Given the description of an element on the screen output the (x, y) to click on. 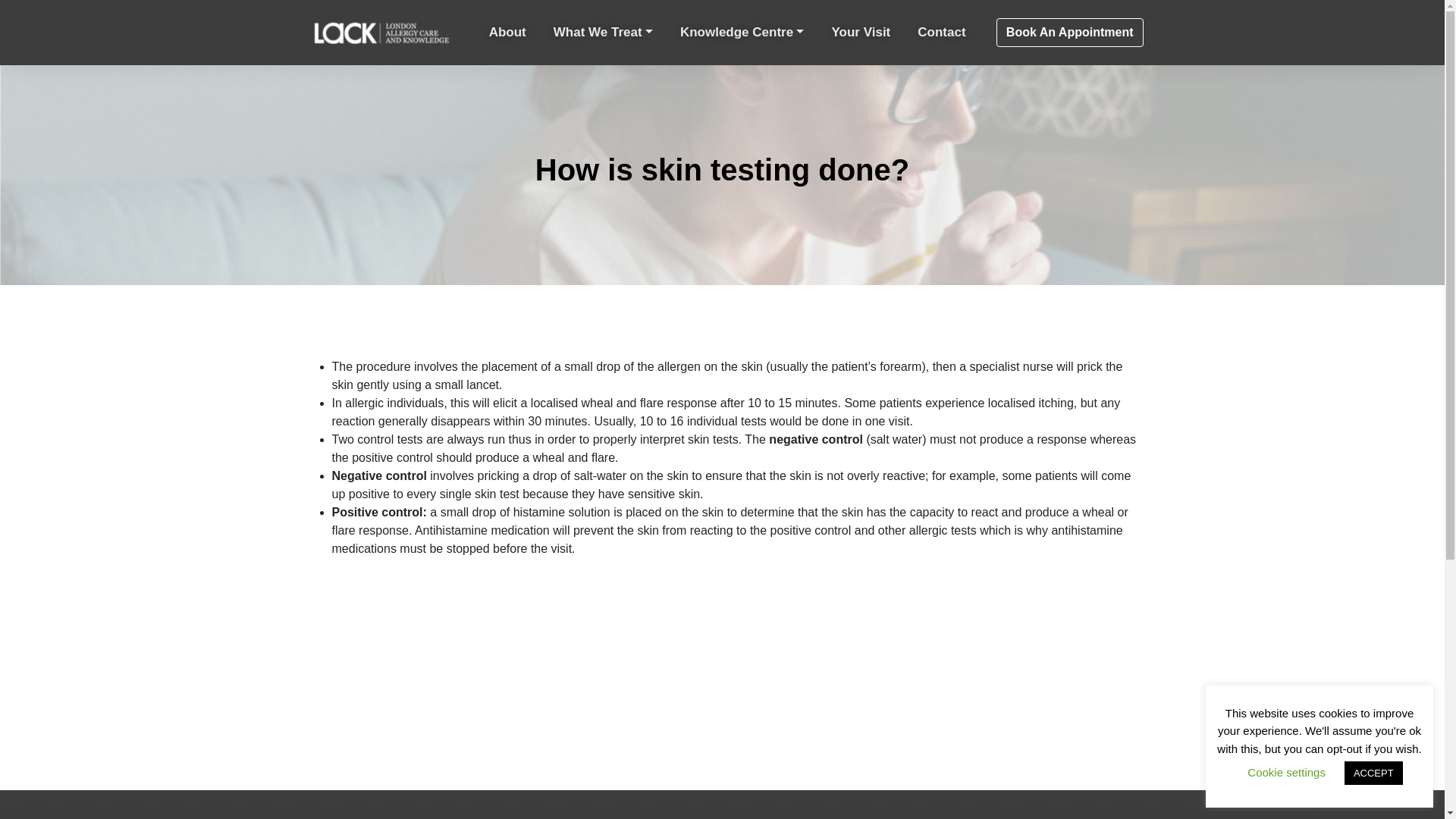
Book An Appointment (1068, 32)
Contact (941, 32)
What We Treat (603, 32)
Contact (941, 32)
Knowledge Centre (742, 32)
Your Visit (860, 32)
What We Treat (603, 32)
Your Visit (860, 32)
Knowledge Centre (742, 32)
